Given the description of an element on the screen output the (x, y) to click on. 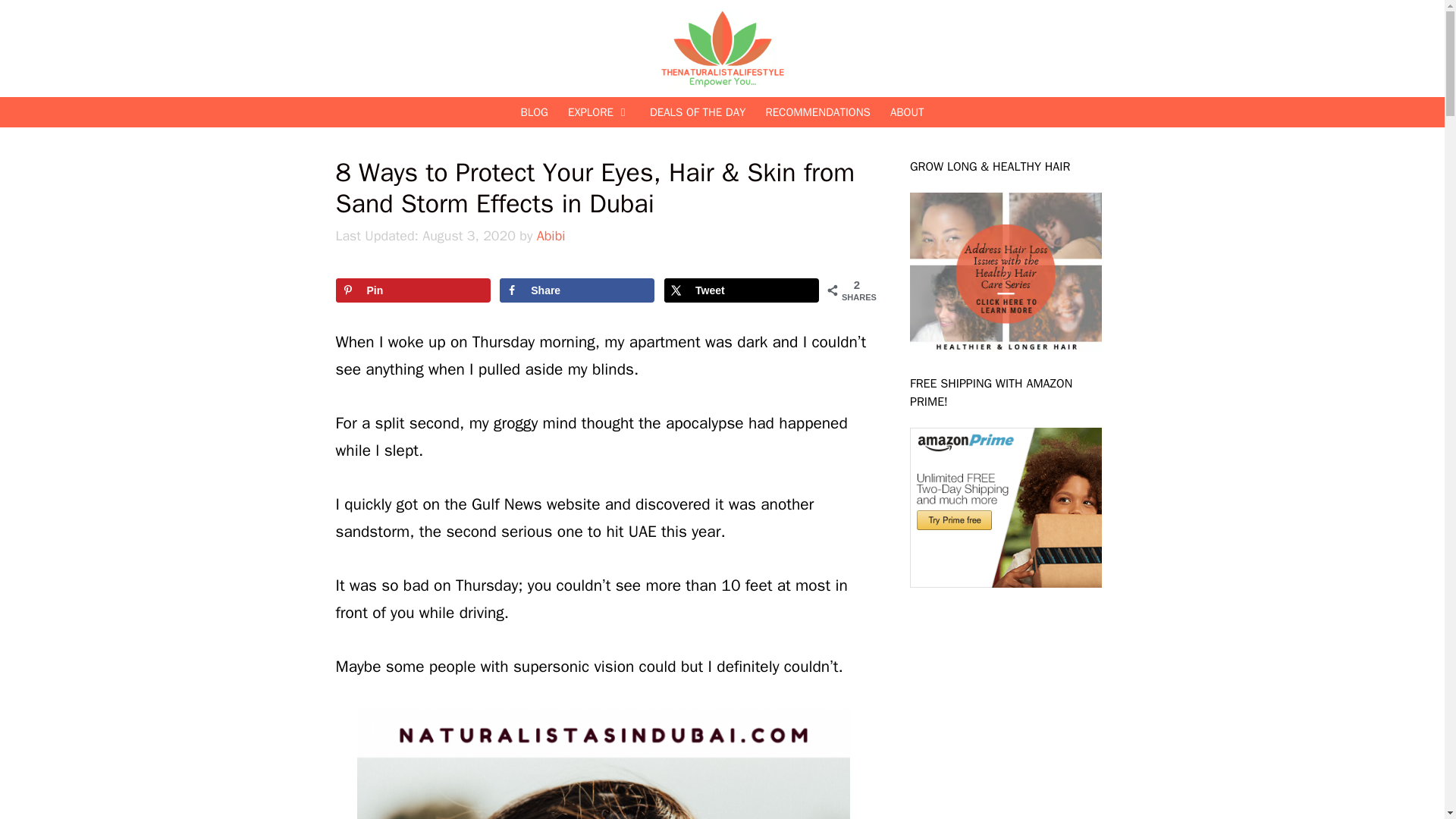
Advertisement (1023, 705)
EXPLORE (598, 112)
BLOG (534, 112)
ABOUT (907, 112)
Save to Pinterest (411, 290)
Pin (411, 290)
Share on X (740, 290)
Share (576, 290)
Abibi (551, 235)
Tweet (740, 290)
